Given the description of an element on the screen output the (x, y) to click on. 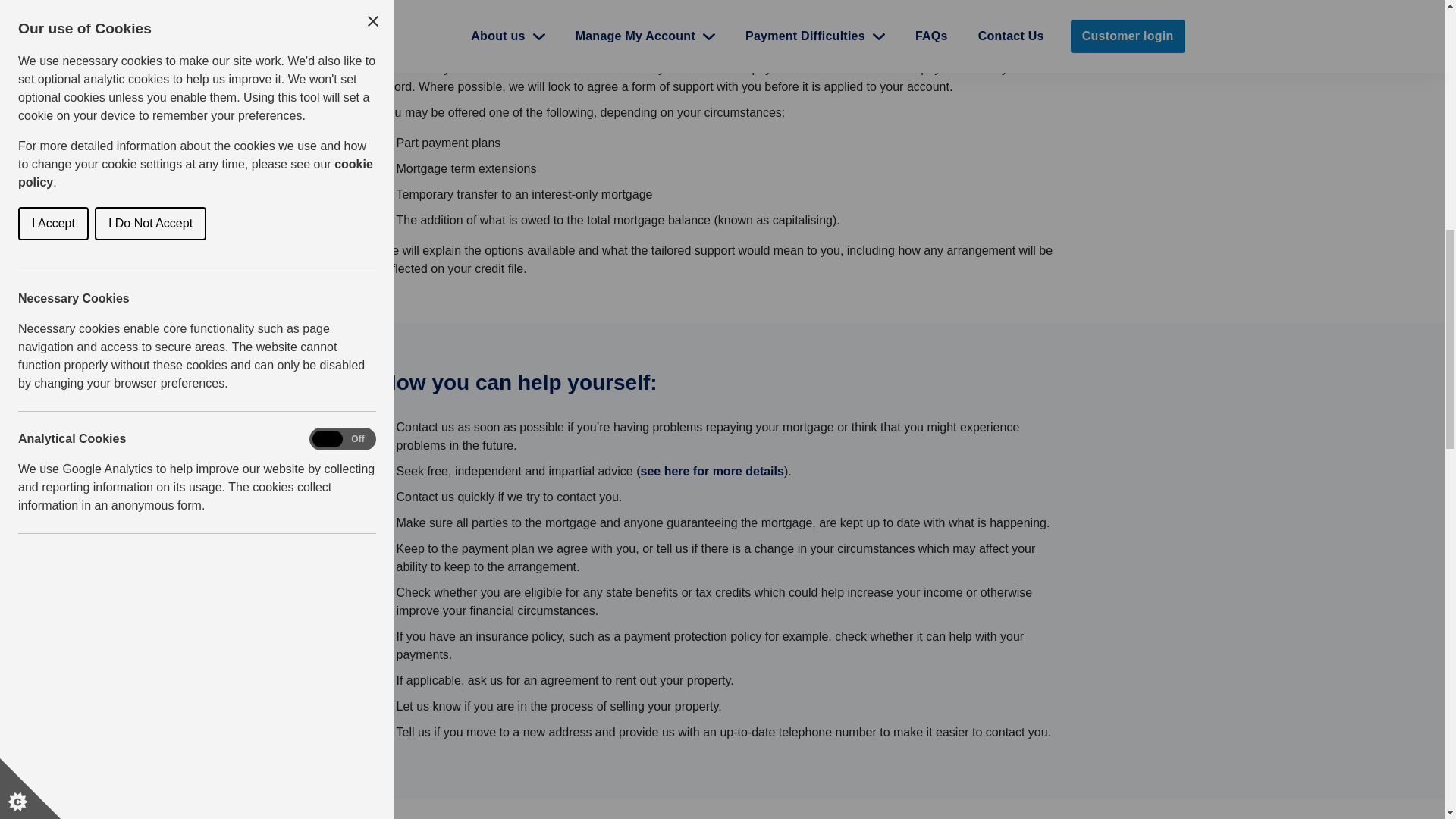
see here for more details (711, 471)
